Given the description of an element on the screen output the (x, y) to click on. 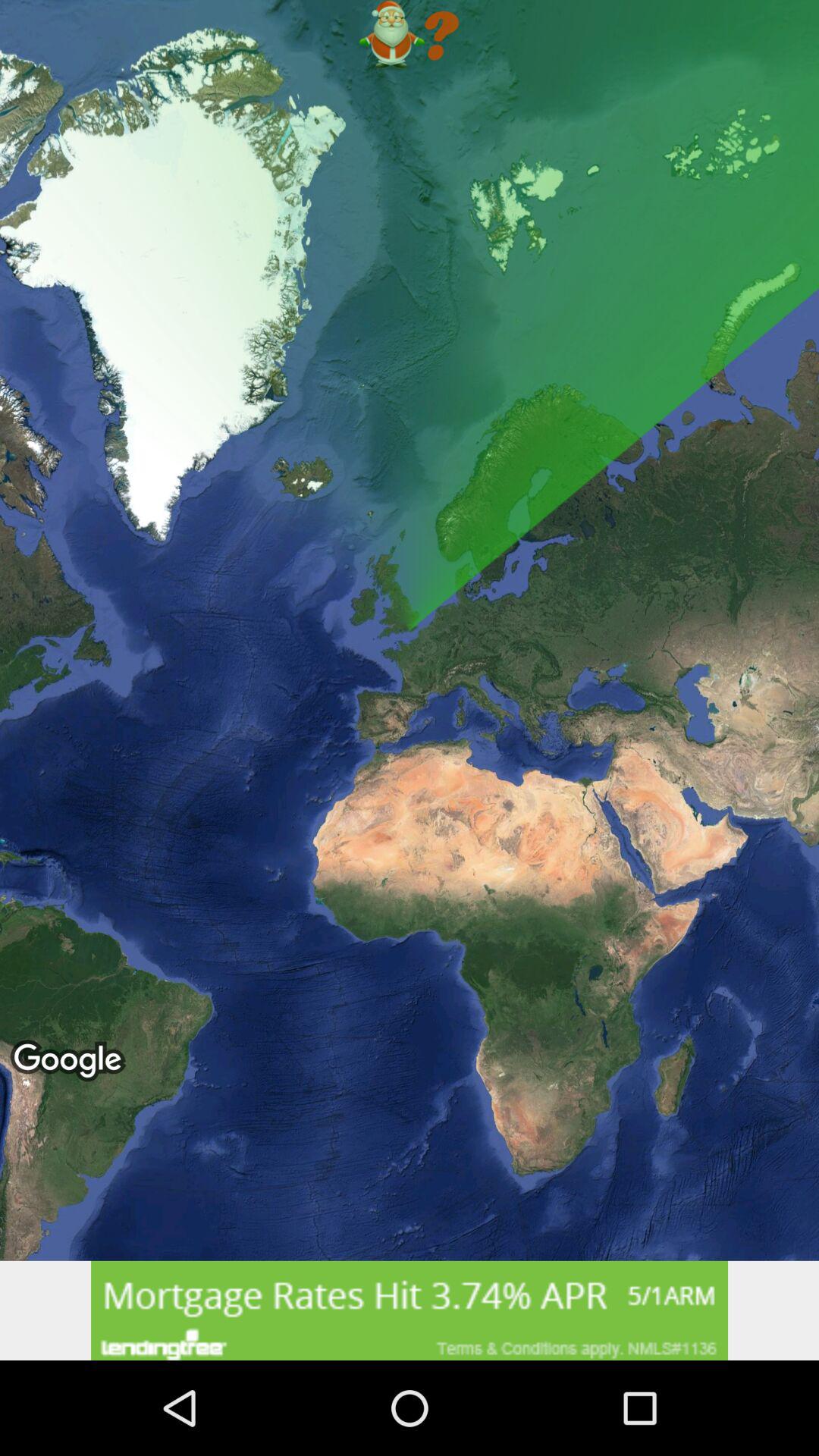
go to advertisement (409, 1310)
